Given the description of an element on the screen output the (x, y) to click on. 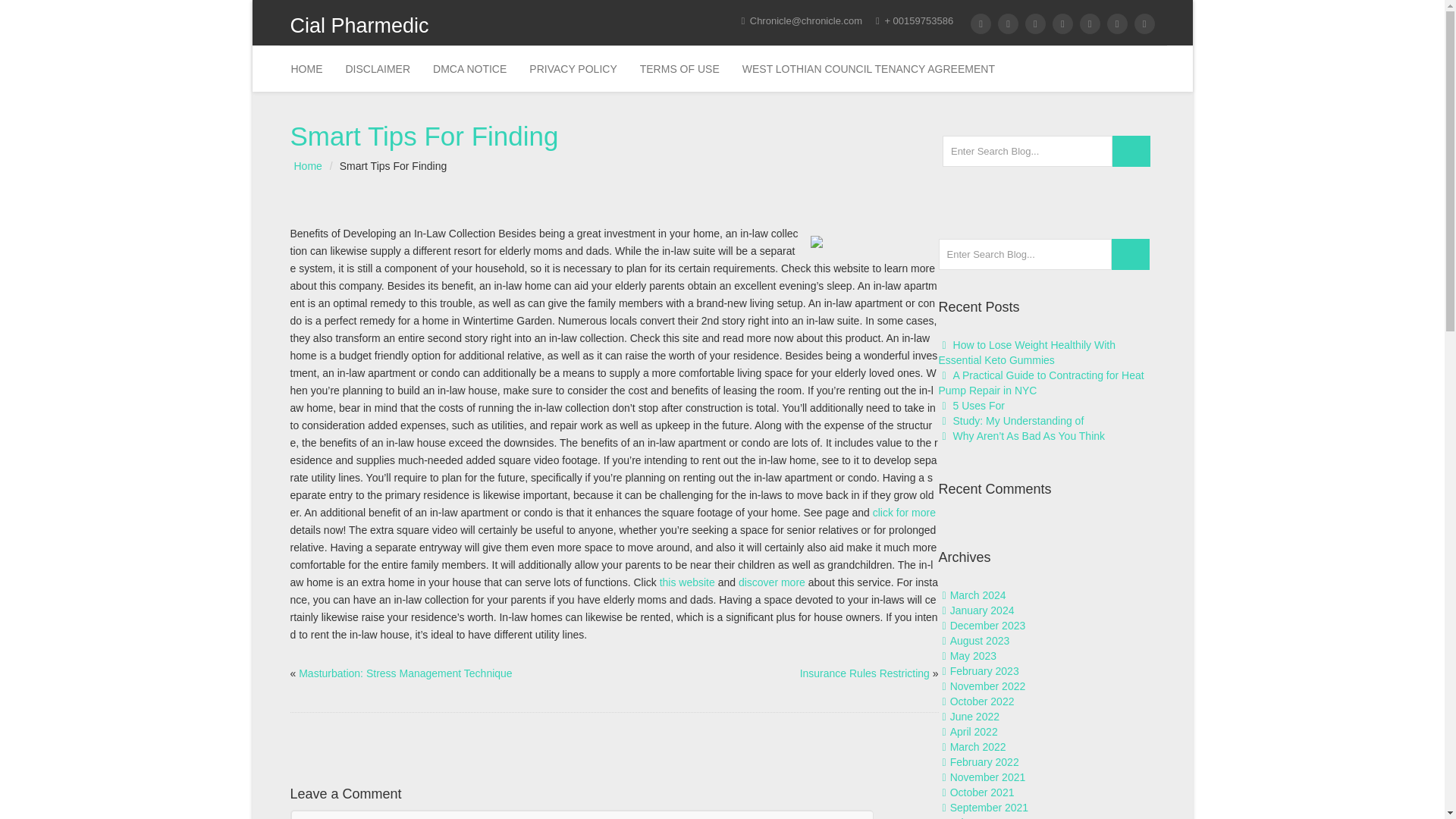
June 2022 (974, 716)
Search (1131, 151)
WEST LOTHIAN COUNCIL TENANCY AGREEMENT (868, 68)
Cial Pharmedic (397, 28)
discover more (771, 582)
Search (1131, 151)
DISCLAIMER (377, 68)
5 Uses For (978, 405)
Home (306, 68)
December 2023 (988, 625)
